Given the description of an element on the screen output the (x, y) to click on. 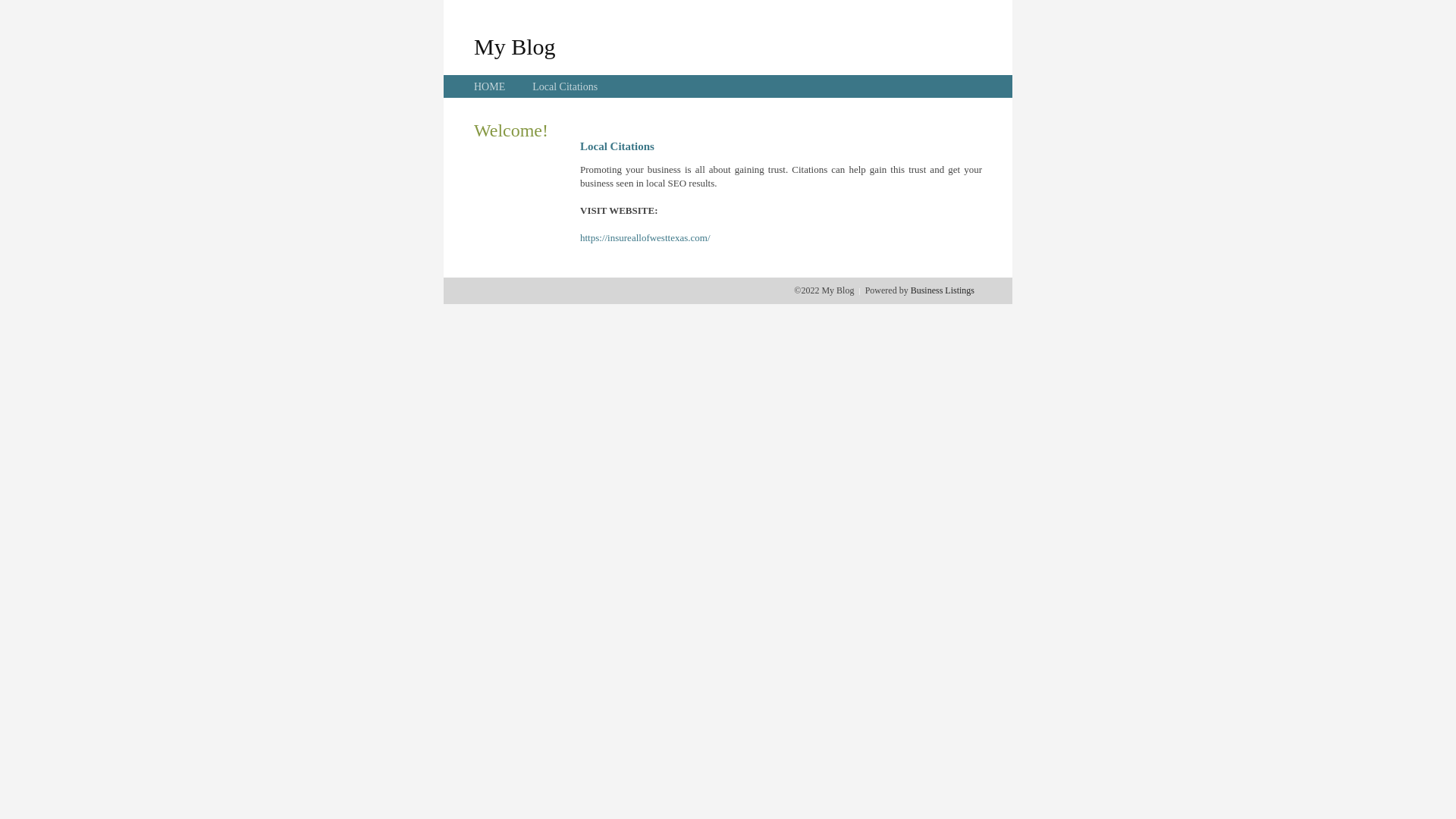
https://insureallofwesttexas.com/ Element type: text (645, 237)
My Blog Element type: text (514, 46)
HOME Element type: text (489, 86)
Business Listings Element type: text (942, 290)
Local Citations Element type: text (564, 86)
